Given the description of an element on the screen output the (x, y) to click on. 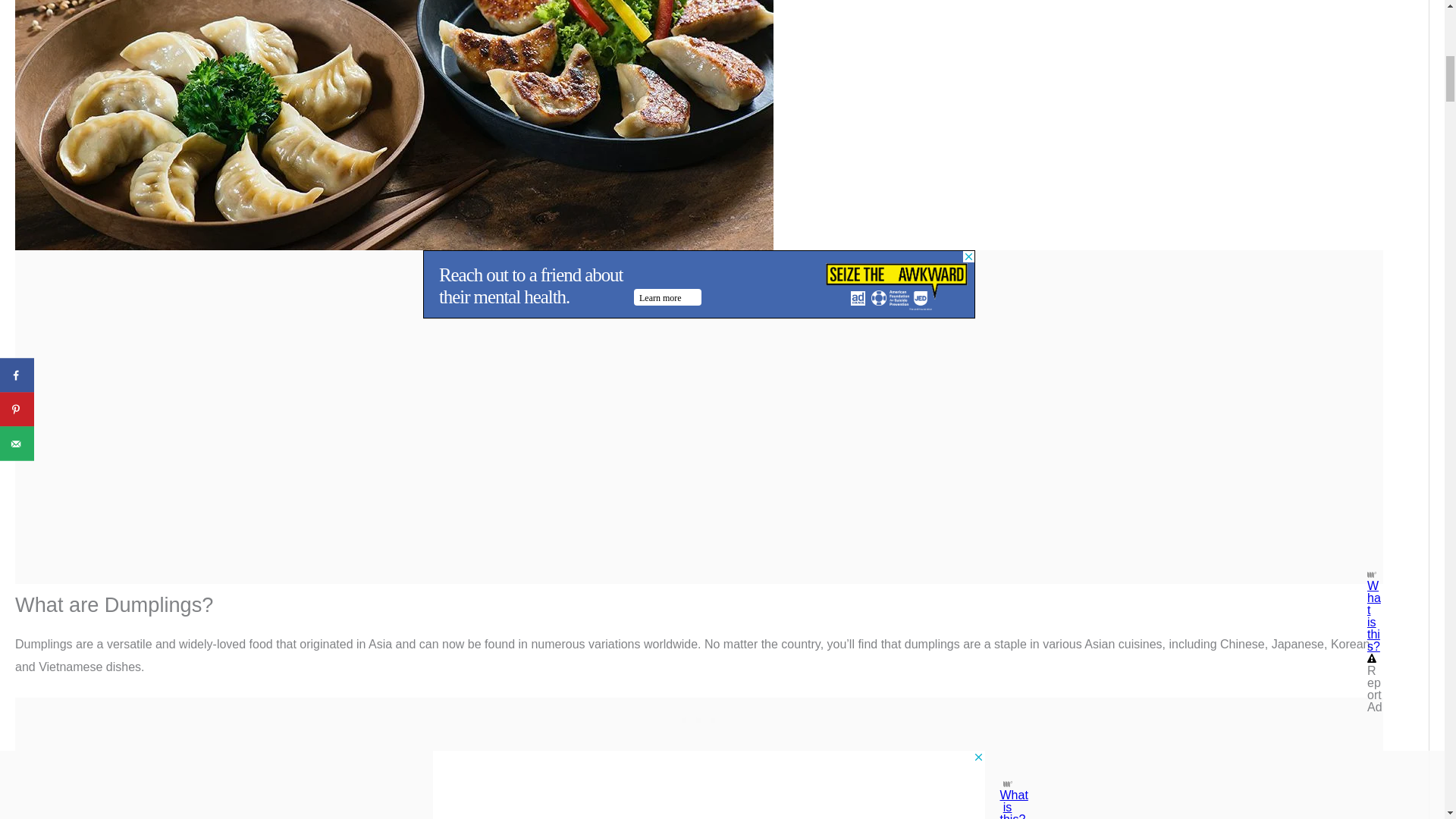
3rd party ad content (699, 284)
3rd party ad content (699, 716)
